Given the description of an element on the screen output the (x, y) to click on. 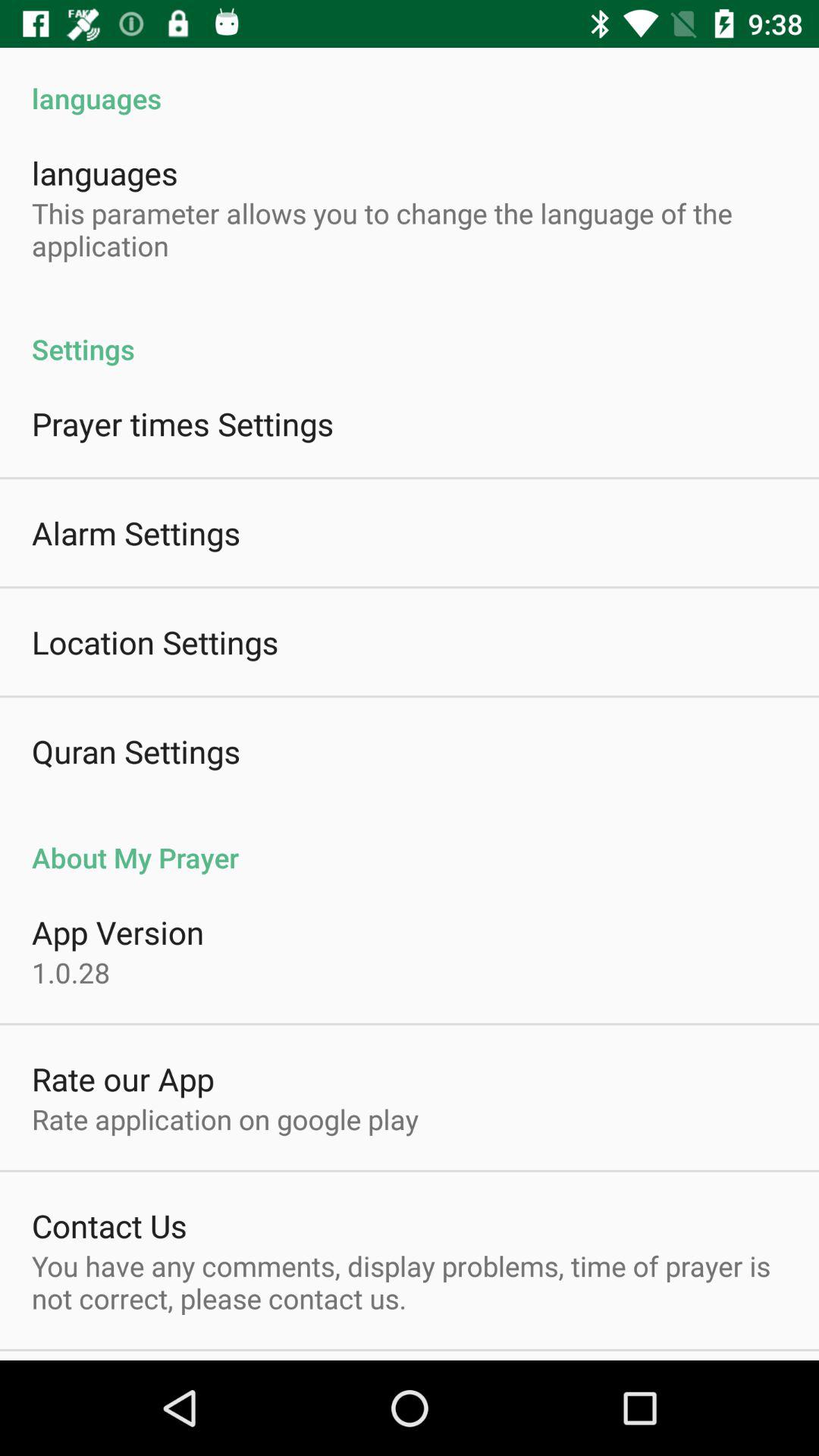
scroll until the you have any app (409, 1282)
